Given the description of an element on the screen output the (x, y) to click on. 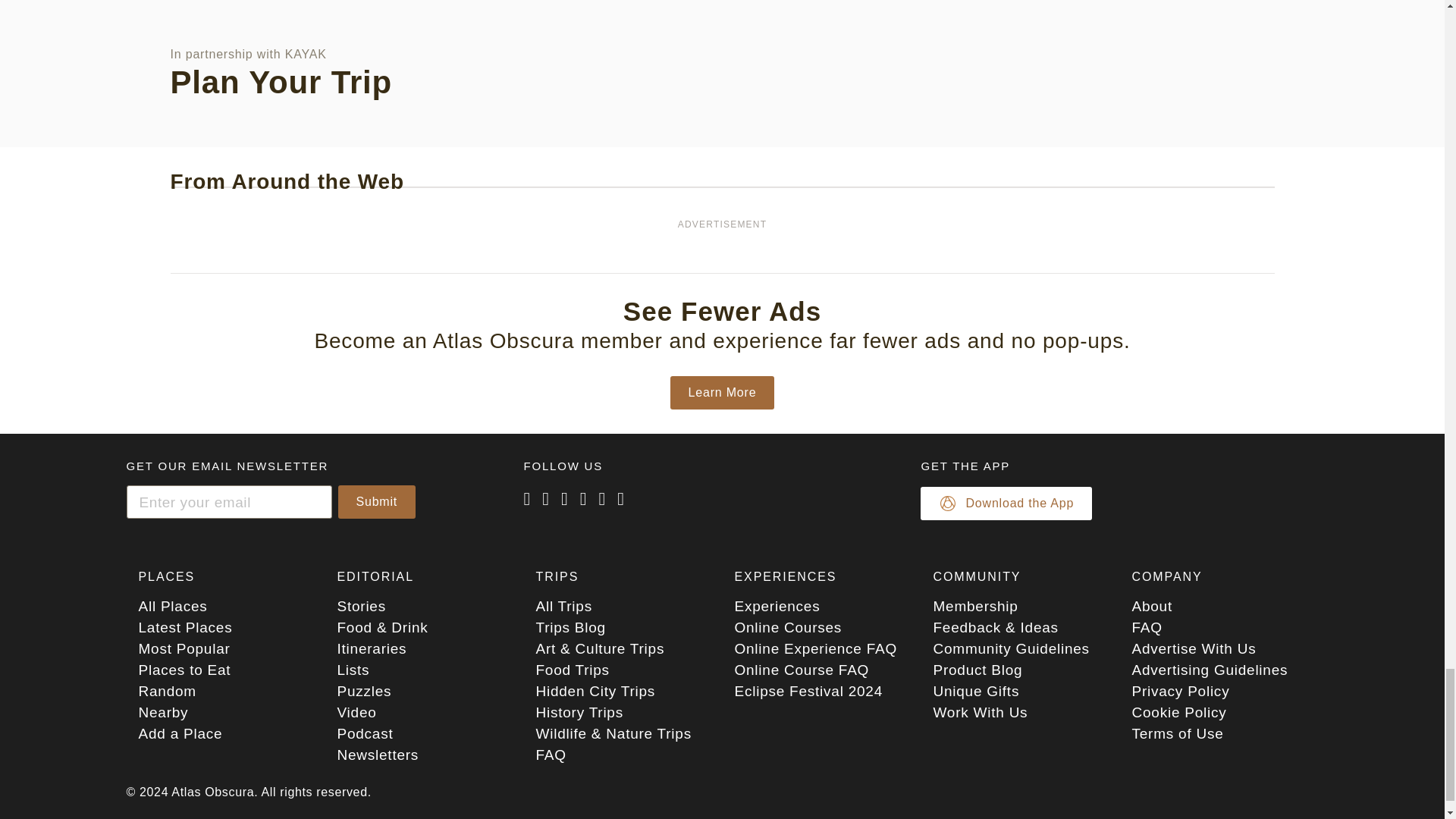
Submit (376, 501)
